Given the description of an element on the screen output the (x, y) to click on. 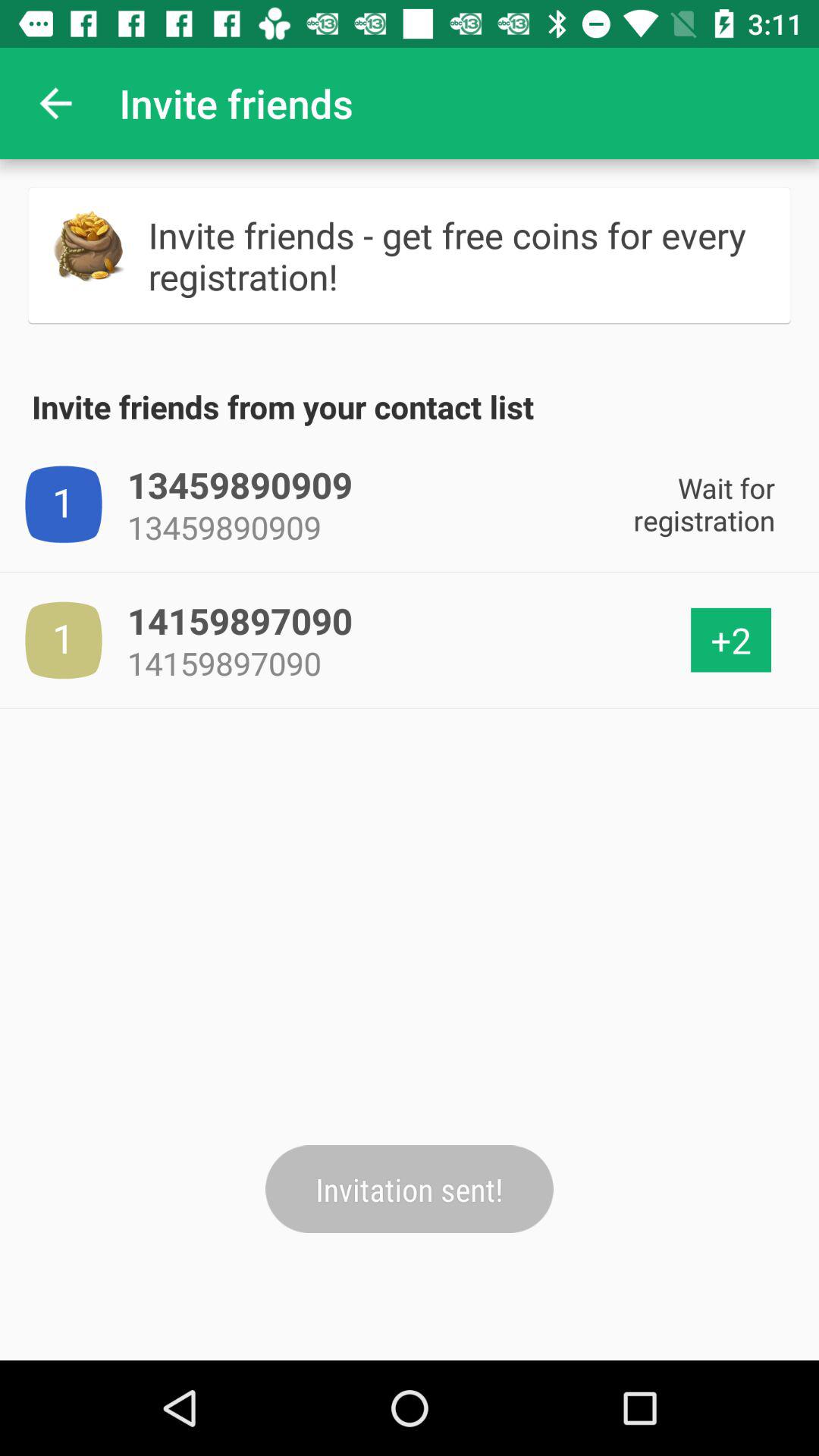
tap the icon to the left of invite friends (55, 103)
